Given the description of an element on the screen output the (x, y) to click on. 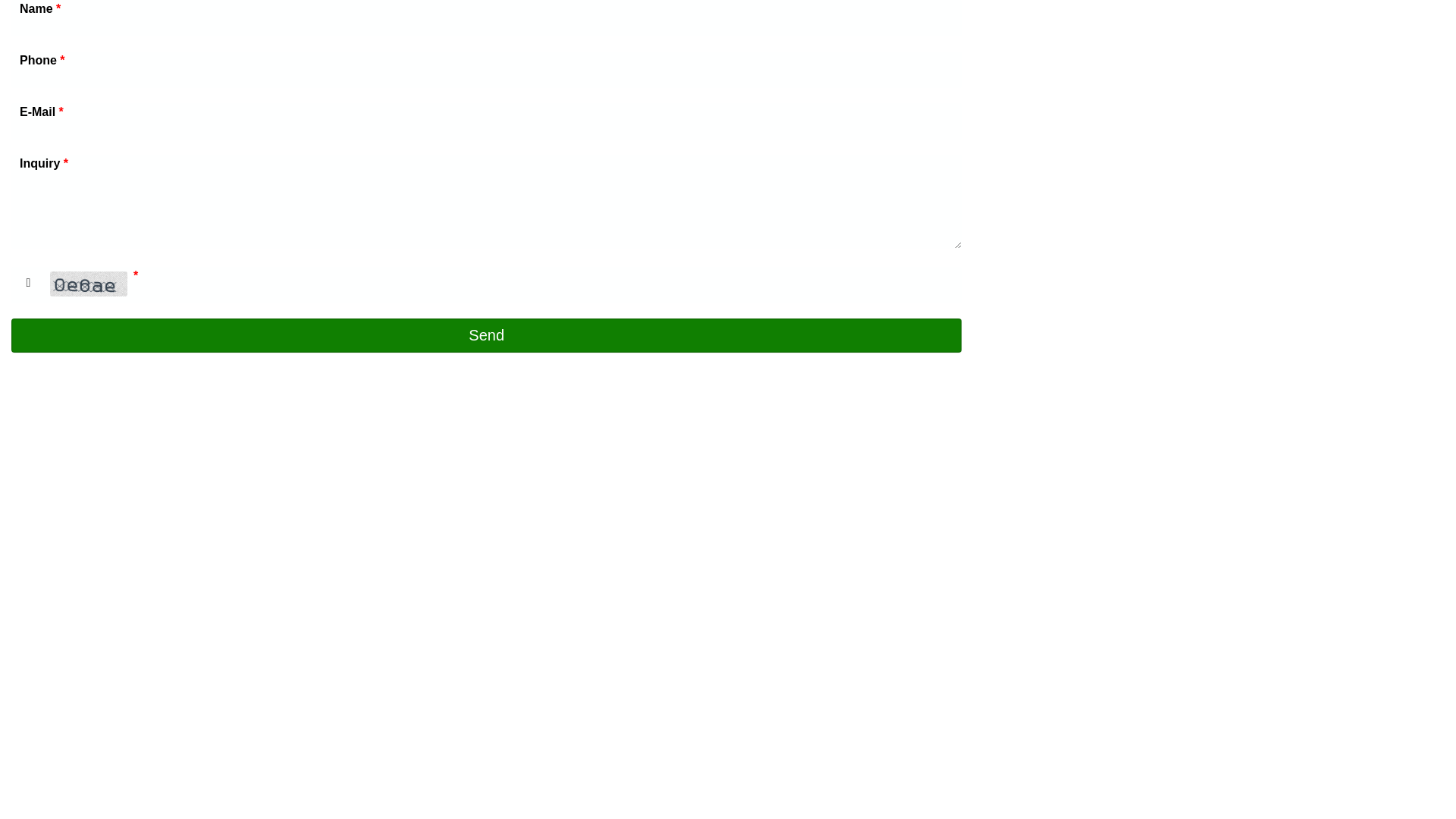
Send Element type: text (486, 335)
